Given the description of an element on the screen output the (x, y) to click on. 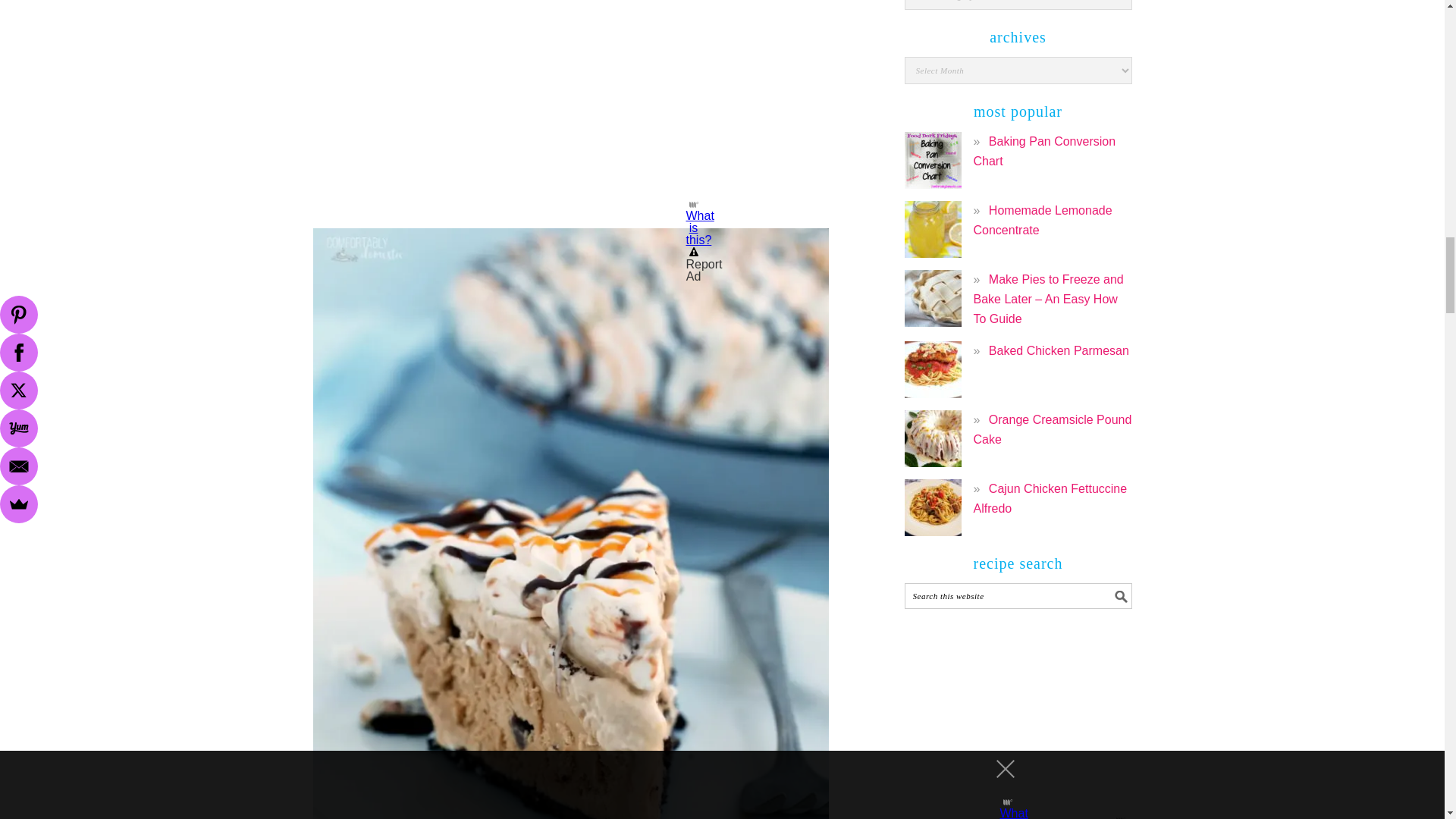
3rd party ad content (570, 117)
